Given the description of an element on the screen output the (x, y) to click on. 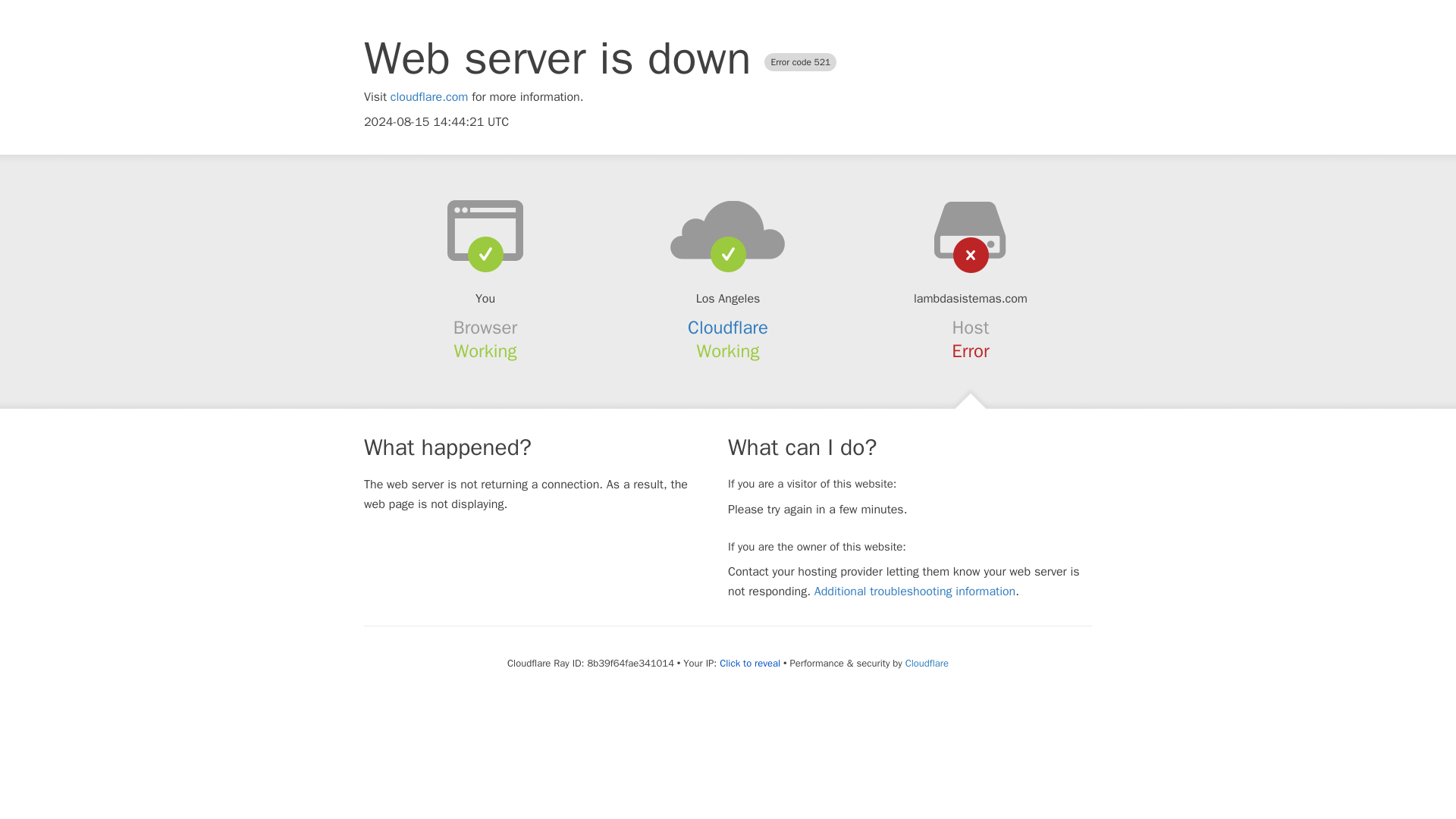
Additional troubleshooting information (913, 590)
Cloudflare (927, 662)
cloudflare.com (429, 96)
Click to reveal (749, 663)
Cloudflare (727, 327)
